Given the description of an element on the screen output the (x, y) to click on. 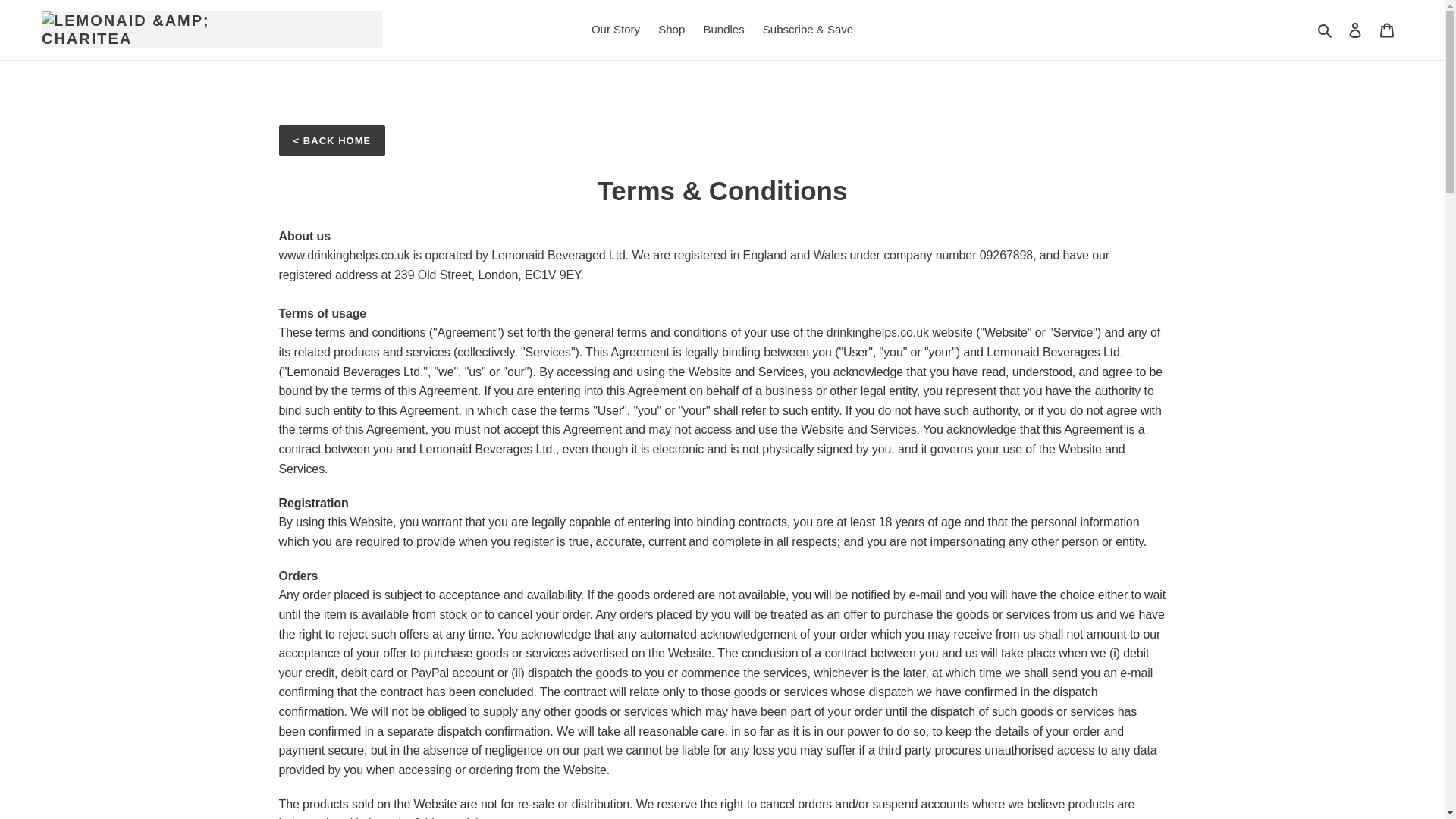
Search (1326, 29)
Basket (1387, 29)
Log in (1355, 29)
Our Story (615, 29)
drinkinghelps.co.uk (877, 332)
Shop (671, 29)
Bundles (723, 29)
